Given the description of an element on the screen output the (x, y) to click on. 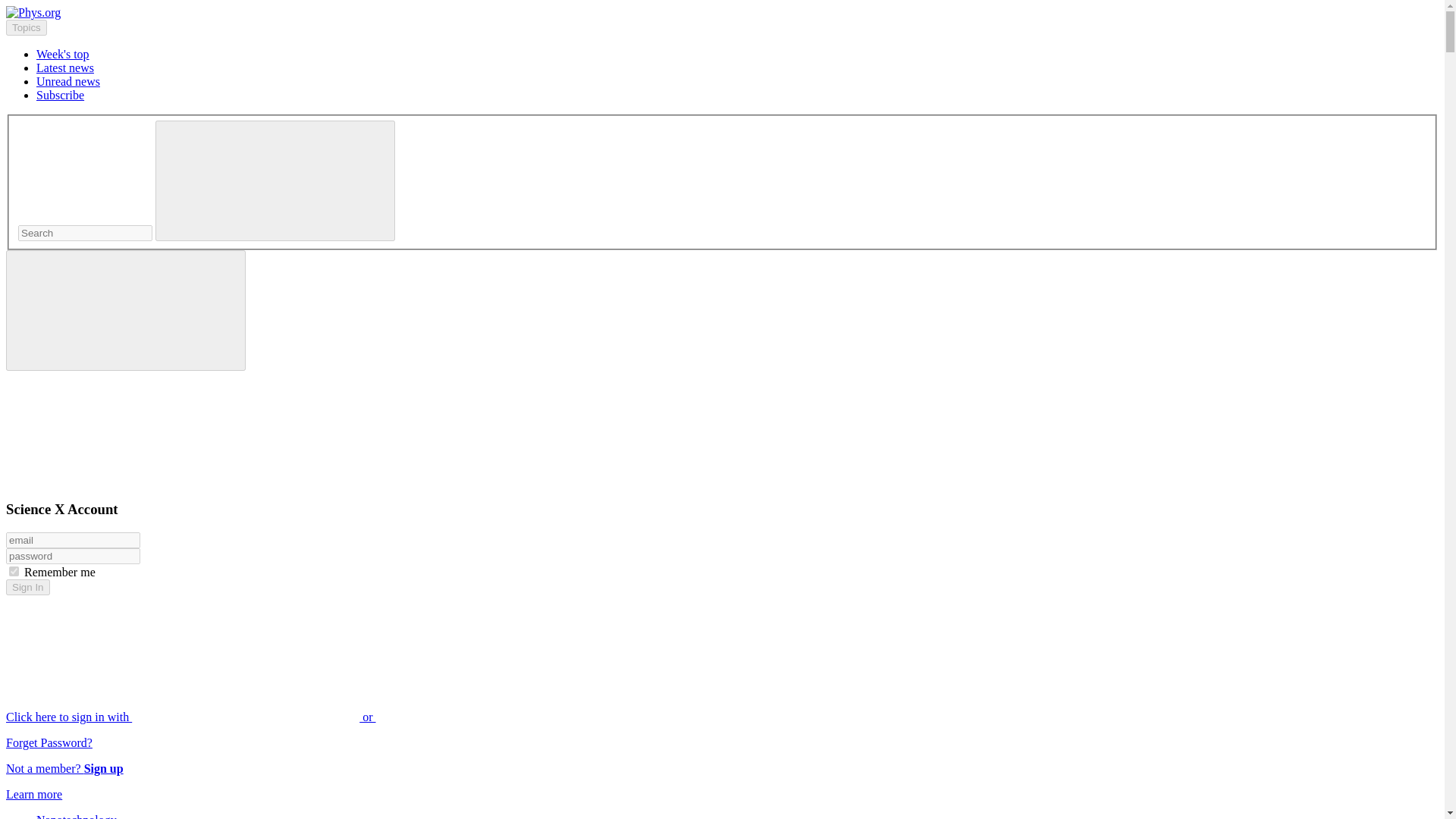
Click here to sign in with or (304, 716)
Nanotechnology (76, 816)
Learn more (33, 793)
on (13, 571)
Subscribe (60, 94)
Forget Password? (49, 742)
Week's top (62, 53)
Latest news (65, 67)
Not a member? Sign up (64, 768)
Unread news (68, 81)
